Given the description of an element on the screen output the (x, y) to click on. 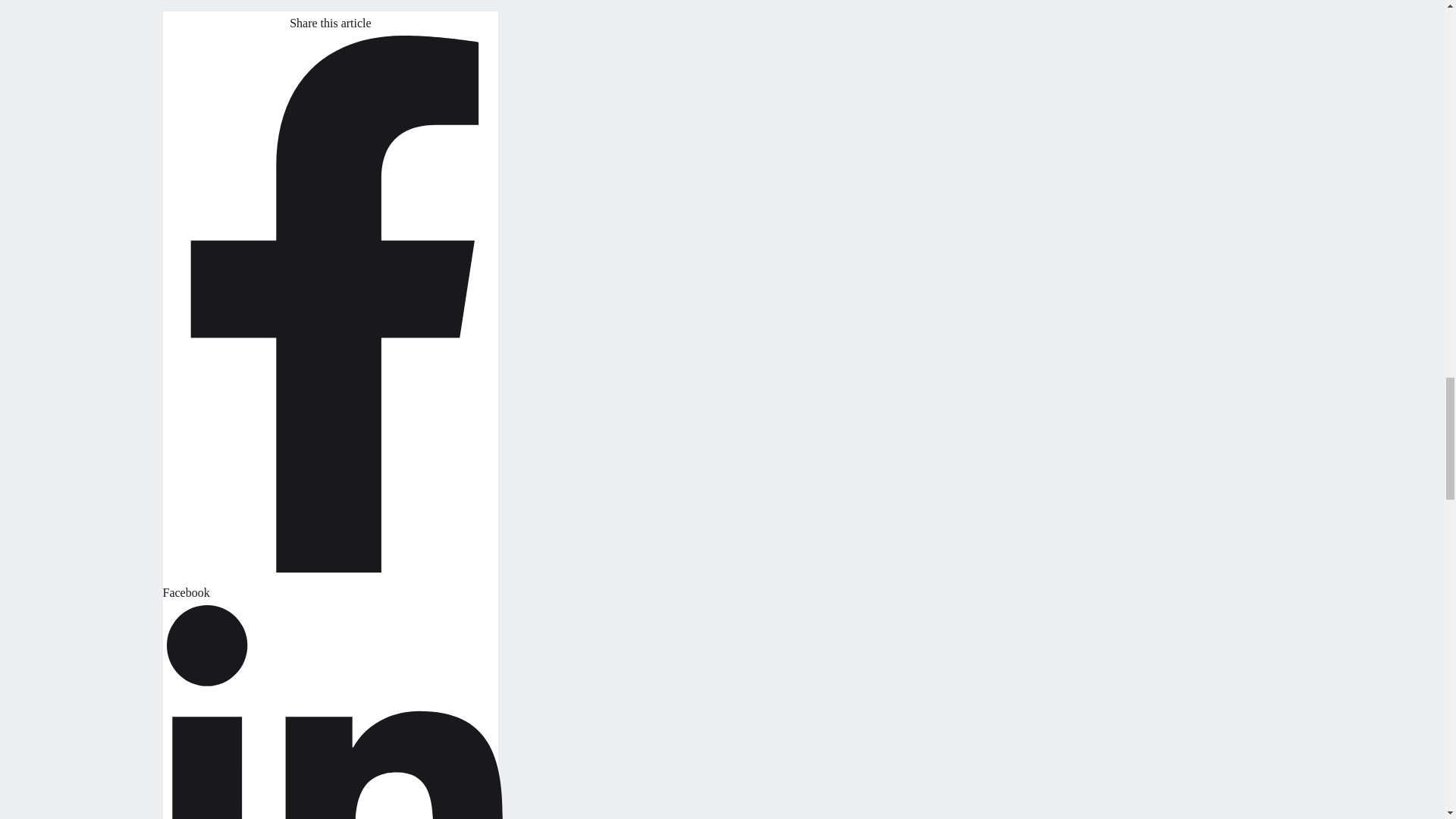
Facebook (331, 579)
